Given the description of an element on the screen output the (x, y) to click on. 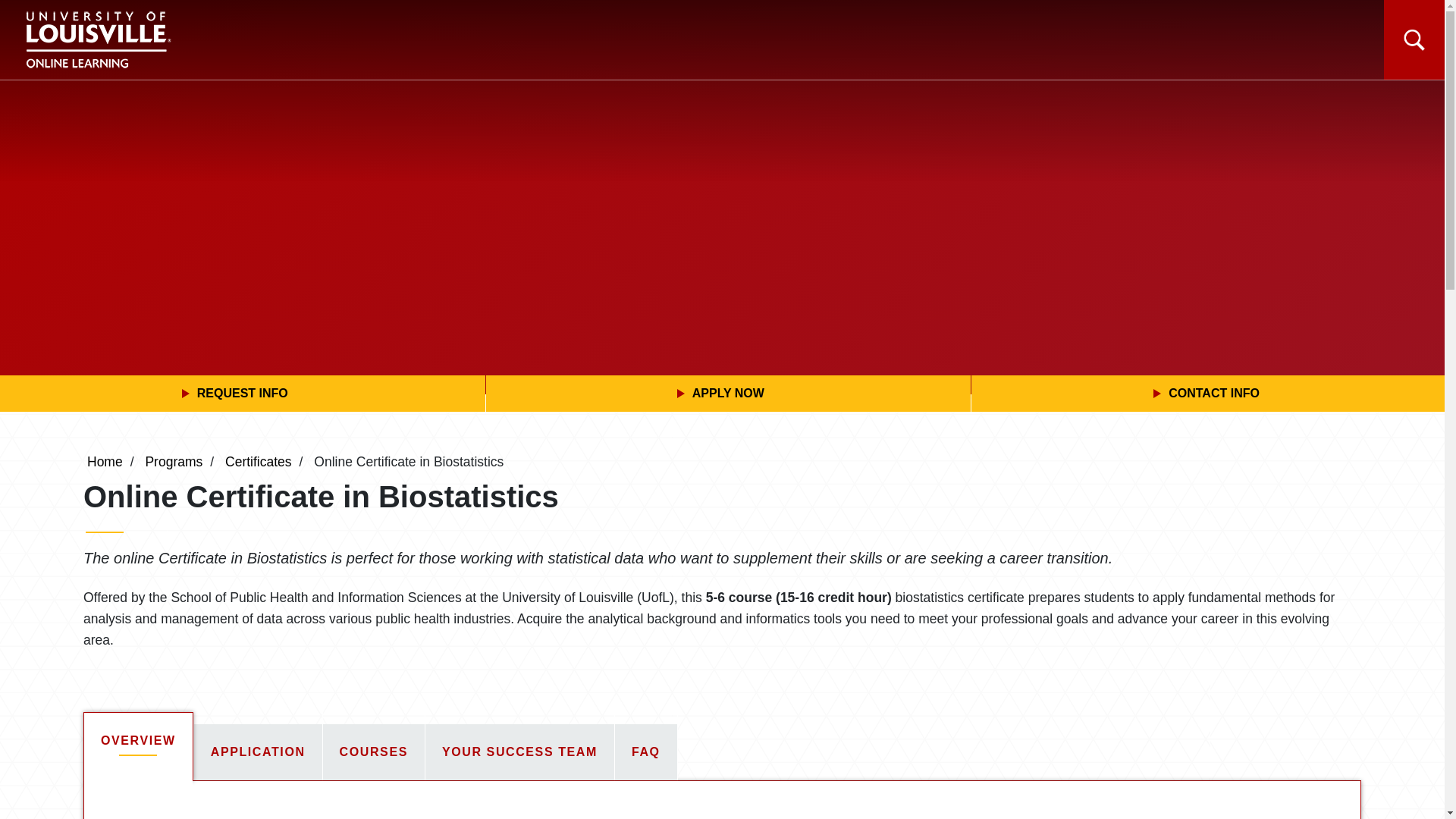
Home (104, 461)
COURSES (374, 751)
YOUR SUCCESS TEAM (519, 751)
OVERVIEW (137, 746)
APPLY NOW (728, 393)
REQUEST INFO (242, 393)
Certificates (258, 461)
FAQ (645, 751)
Programs (173, 461)
APPLICATION (257, 751)
